Given the description of an element on the screen output the (x, y) to click on. 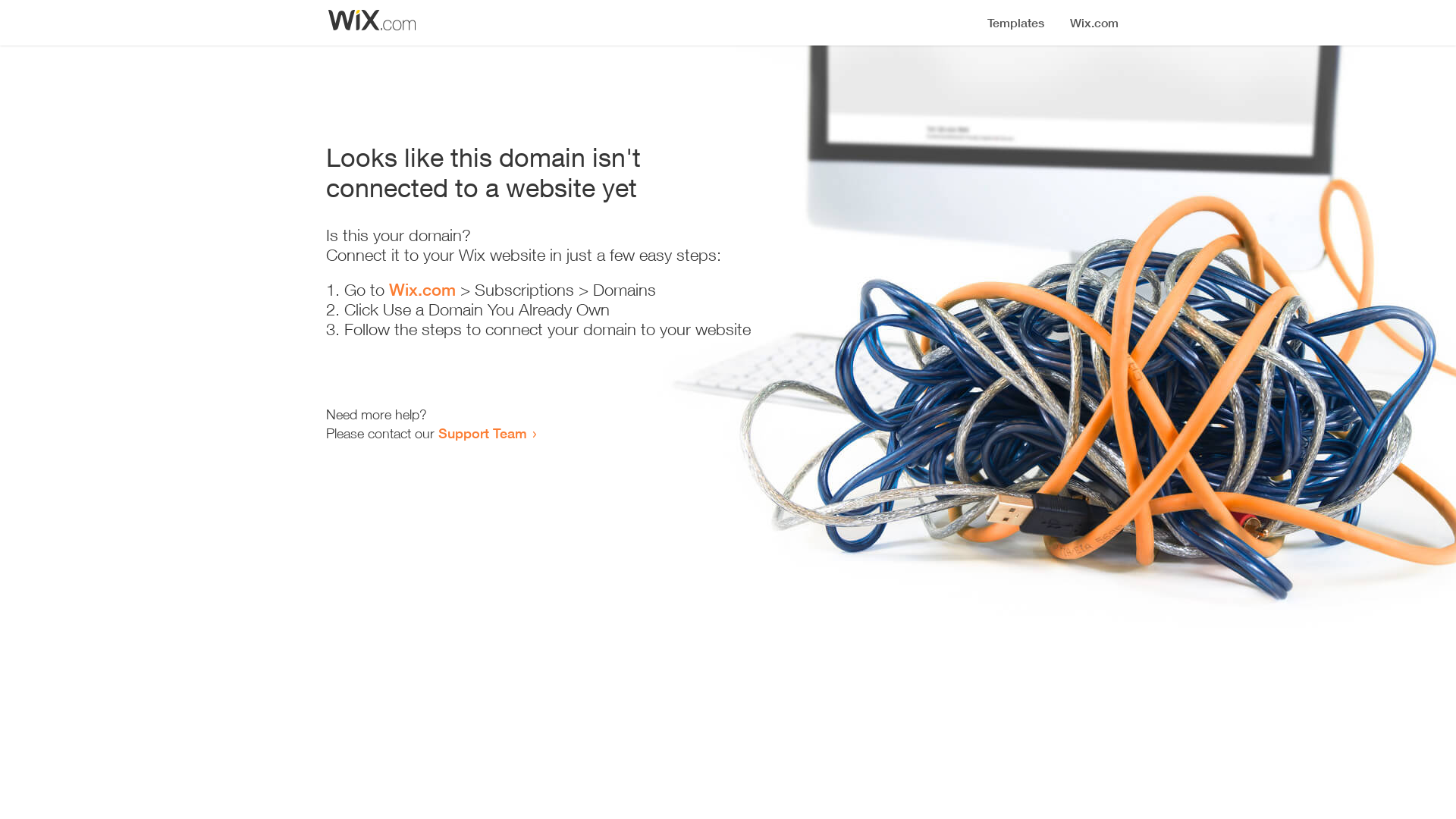
Support Team Element type: text (482, 432)
Wix.com Element type: text (422, 289)
